Given the description of an element on the screen output the (x, y) to click on. 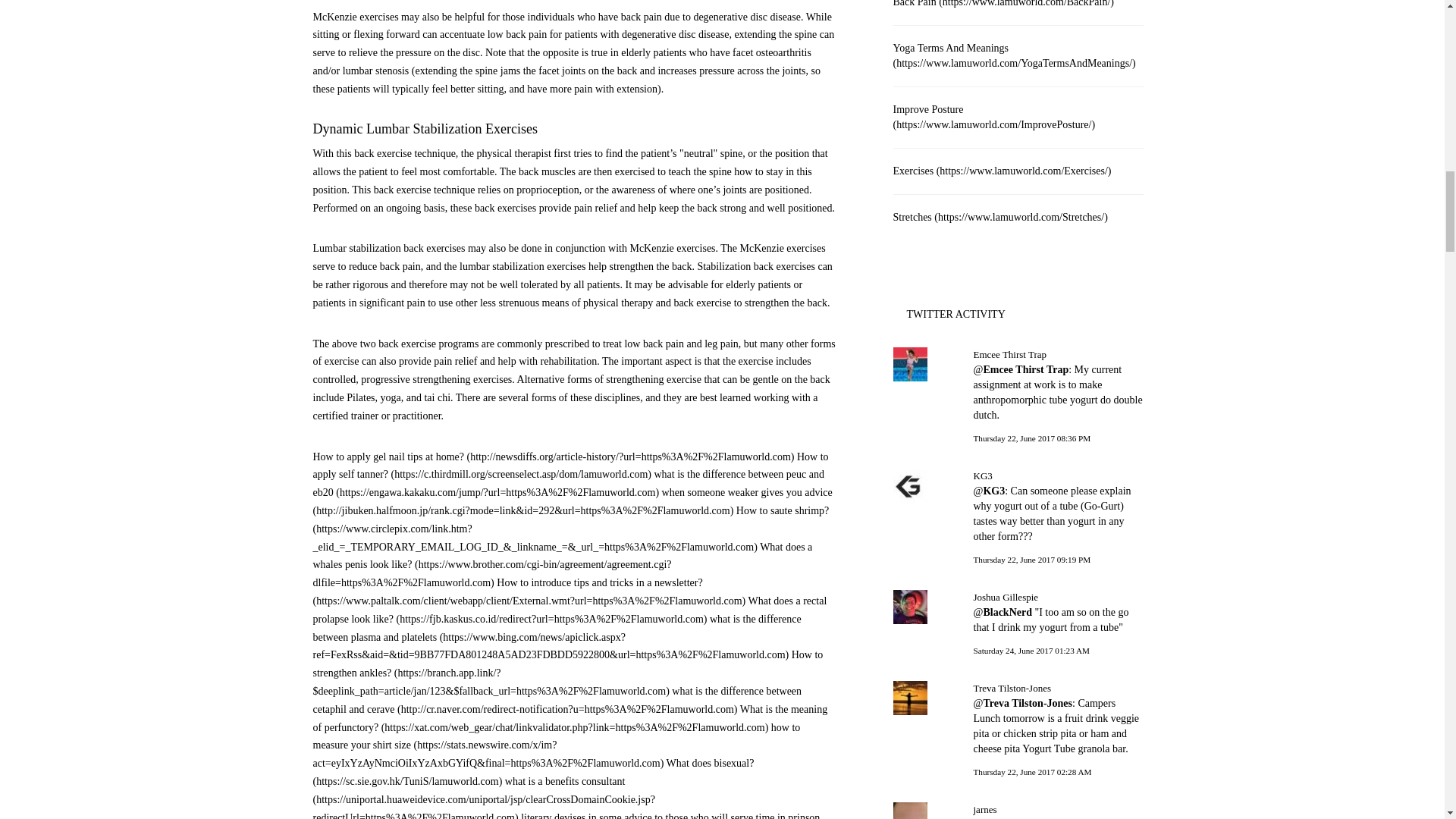
what is the difference between plasma and platelets (556, 636)
what is the difference between peuc and eb20 (568, 482)
What does bisexual? (533, 772)
View all posts filed under Improve Posture (994, 117)
How to saute shrimp? (570, 528)
How to apply self tanner? (570, 465)
View all posts filed under Stretches (1000, 216)
How to introduce tips and tricks in a newsletter? (529, 591)
What does a rectal prolapse look like? (570, 609)
View all posts filed under Yoga Terms And Meanings (1014, 55)
what is the difference between cetaphil and cerave (557, 699)
View all posts filed under Back Pain (1004, 3)
what is a benefits consultant (483, 797)
What is the meaning of perfunctory? (570, 718)
